Given the description of an element on the screen output the (x, y) to click on. 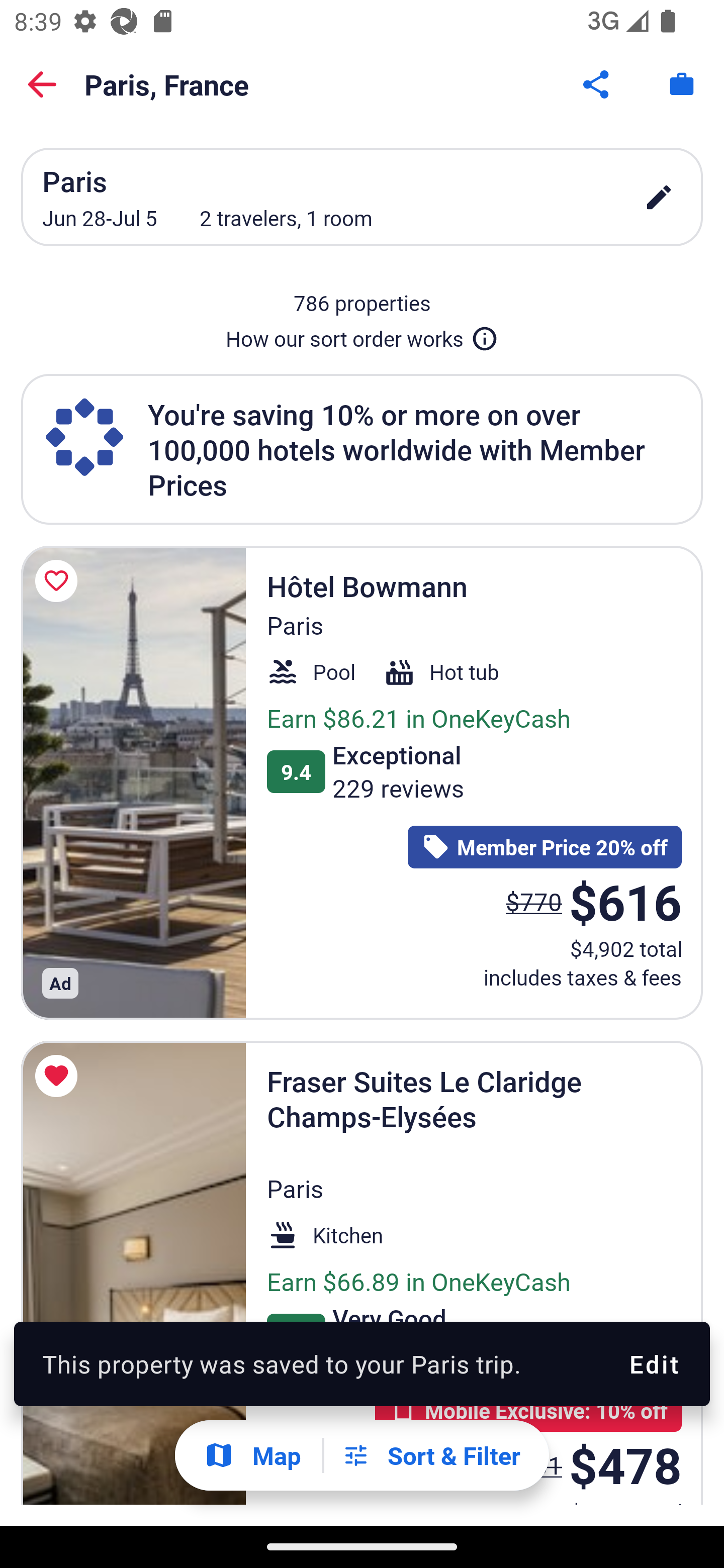
Back (42, 84)
Share Button (597, 84)
Trips. Button (681, 84)
Paris Jun 28-Jul 5 2 travelers, 1 room edit (361, 196)
How our sort order works (361, 334)
Save Hôtel Bowmann to a trip (59, 580)
Hôtel Bowmann (133, 782)
$770 The price was $770 (533, 901)
Fraser Suites Le Claridge Champs-Elysées (133, 1273)
Edit (653, 1363)
Filters Sort & Filter Filters Button (430, 1455)
Show map Map Show map Button (252, 1455)
